Given the description of an element on the screen output the (x, y) to click on. 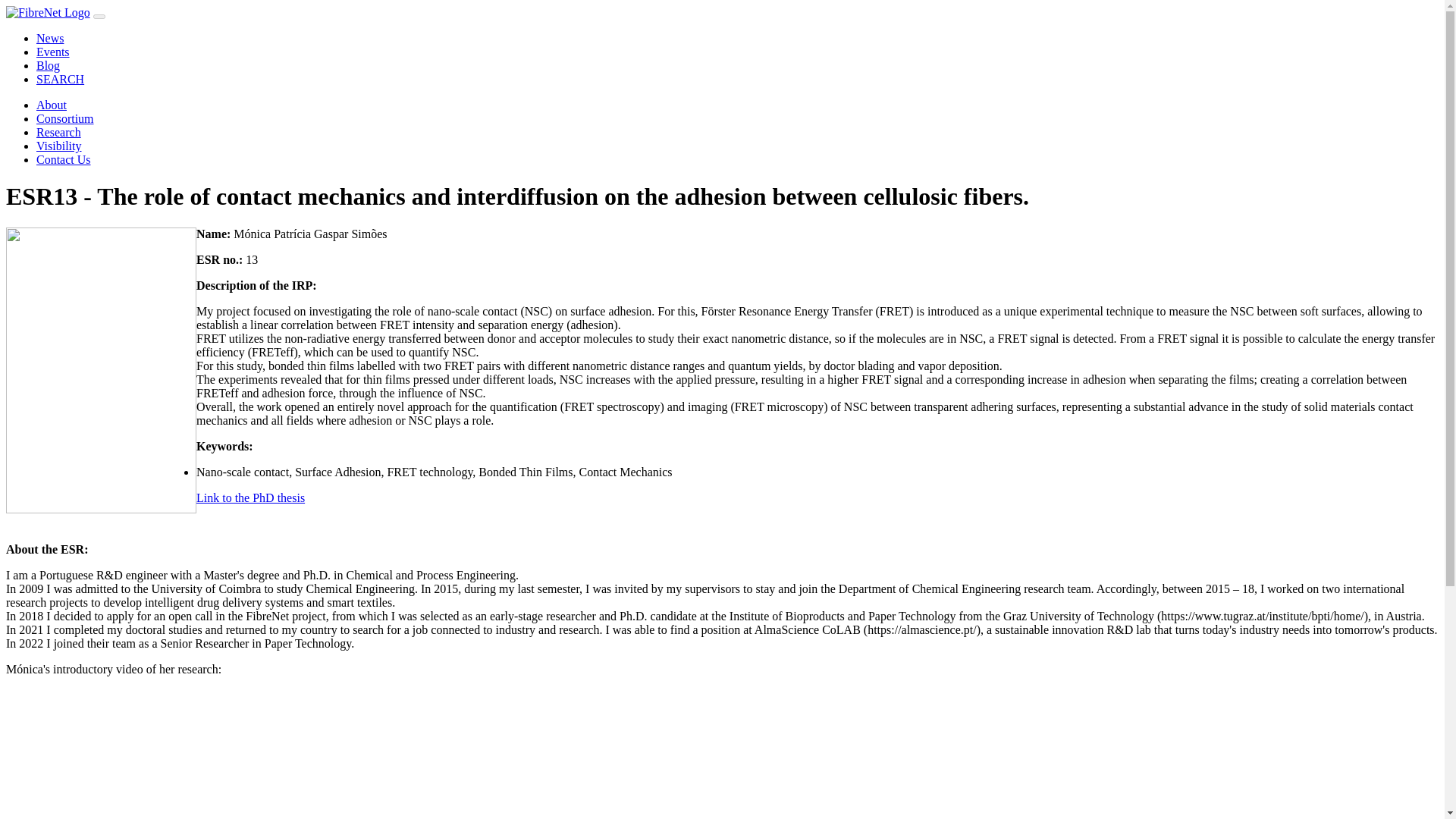
Events (52, 51)
Visibility (58, 145)
Visibility related activity (58, 145)
SEARCH (60, 78)
About FibreNet (51, 104)
Blog (47, 65)
Link to the PhD thesis (250, 497)
Consortium (65, 118)
Research (58, 132)
About (51, 104)
